Given the description of an element on the screen output the (x, y) to click on. 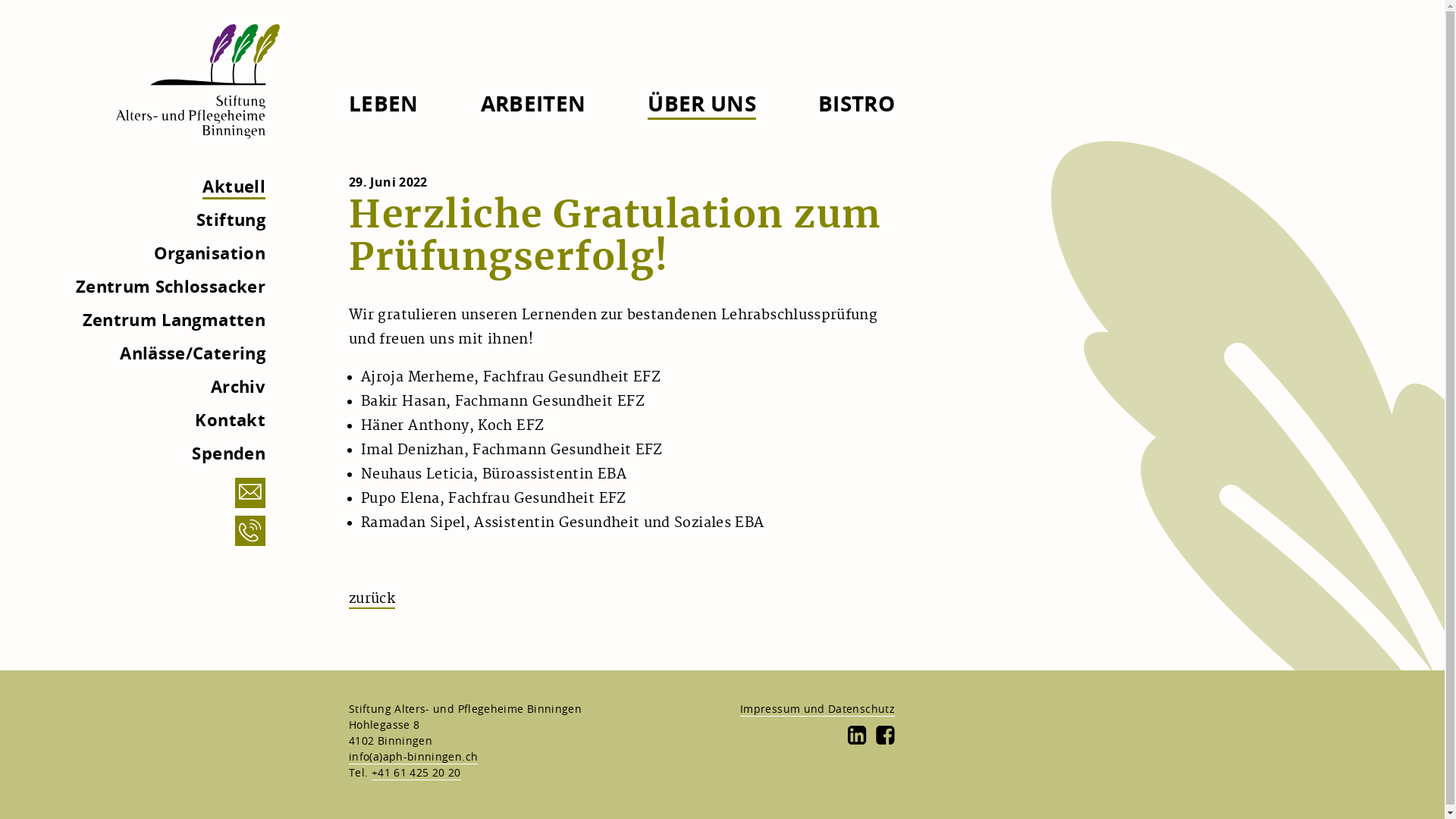
Spenden Element type: text (228, 452)
Zentrum Schlossacker Element type: text (170, 285)
Kontakt Element type: text (229, 418)
Impressum und Datenschutz Element type: text (817, 708)
  Element type: text (196, 83)
LEBEN Element type: text (383, 102)
Organisation Element type: text (209, 252)
Zentrum Langmatten Element type: text (173, 318)
  Element type: text (884, 734)
  Element type: text (856, 734)
BISTRO Element type: text (856, 102)
Stiftung Element type: text (230, 218)
Aktuell Element type: text (233, 186)
+41 61 425 20 20 Element type: text (416, 772)
info(a)aph-binningen.ch Element type: text (412, 756)
ARBEITEN Element type: text (533, 102)
Archiv Element type: text (237, 385)
